Given the description of an element on the screen output the (x, y) to click on. 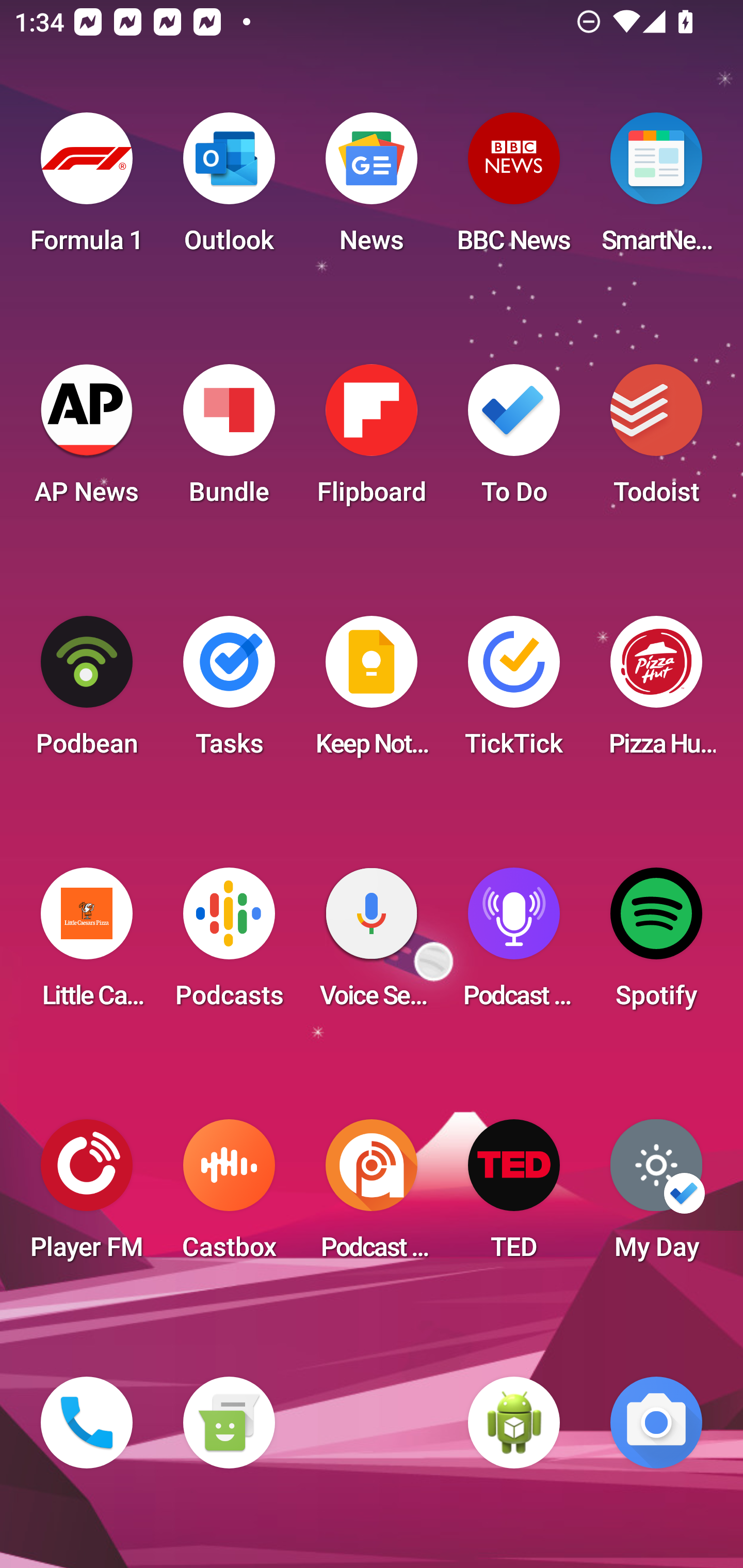
Formula 1 (86, 188)
Outlook (228, 188)
News (371, 188)
BBC News (513, 188)
SmartNews (656, 188)
AP News (86, 440)
Bundle (228, 440)
Flipboard (371, 440)
To Do (513, 440)
Todoist (656, 440)
Podbean (86, 692)
Tasks (228, 692)
Keep Notes (371, 692)
TickTick (513, 692)
Pizza Hut HK & Macau (656, 692)
Little Caesars Pizza (86, 943)
Podcasts (228, 943)
Voice Search (371, 943)
Podcast Player (513, 943)
Spotify (656, 943)
Player FM (86, 1195)
Castbox (228, 1195)
Podcast Addict (371, 1195)
TED (513, 1195)
My Day (656, 1195)
Phone (86, 1422)
Messaging (228, 1422)
WebView Browser Tester (513, 1422)
Camera (656, 1422)
